Given the description of an element on the screen output the (x, y) to click on. 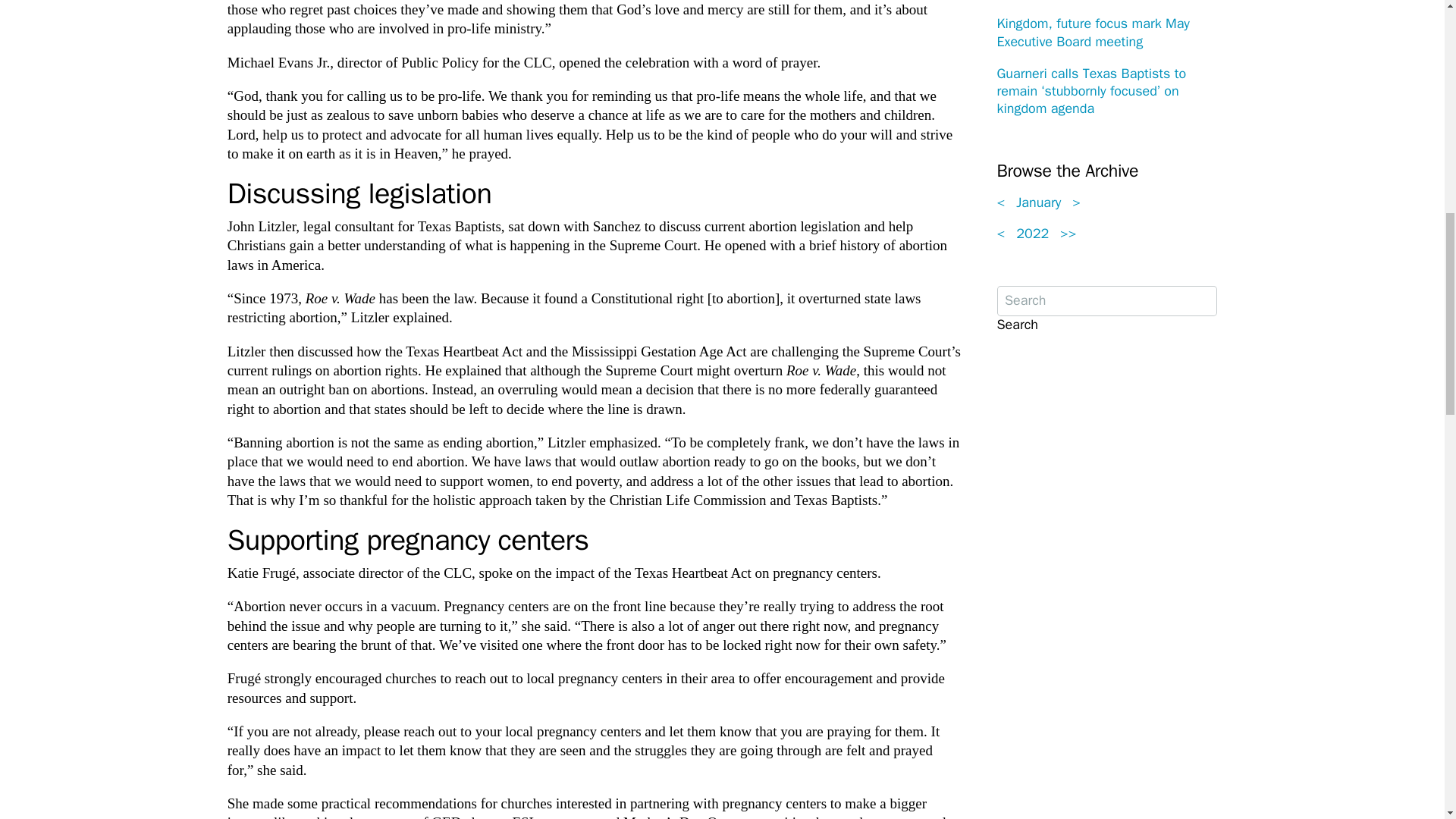
Search (1015, 324)
January (1038, 202)
2022 (1033, 233)
Kingdom, future focus mark May Executive Board meeting (1092, 32)
